Given the description of an element on the screen output the (x, y) to click on. 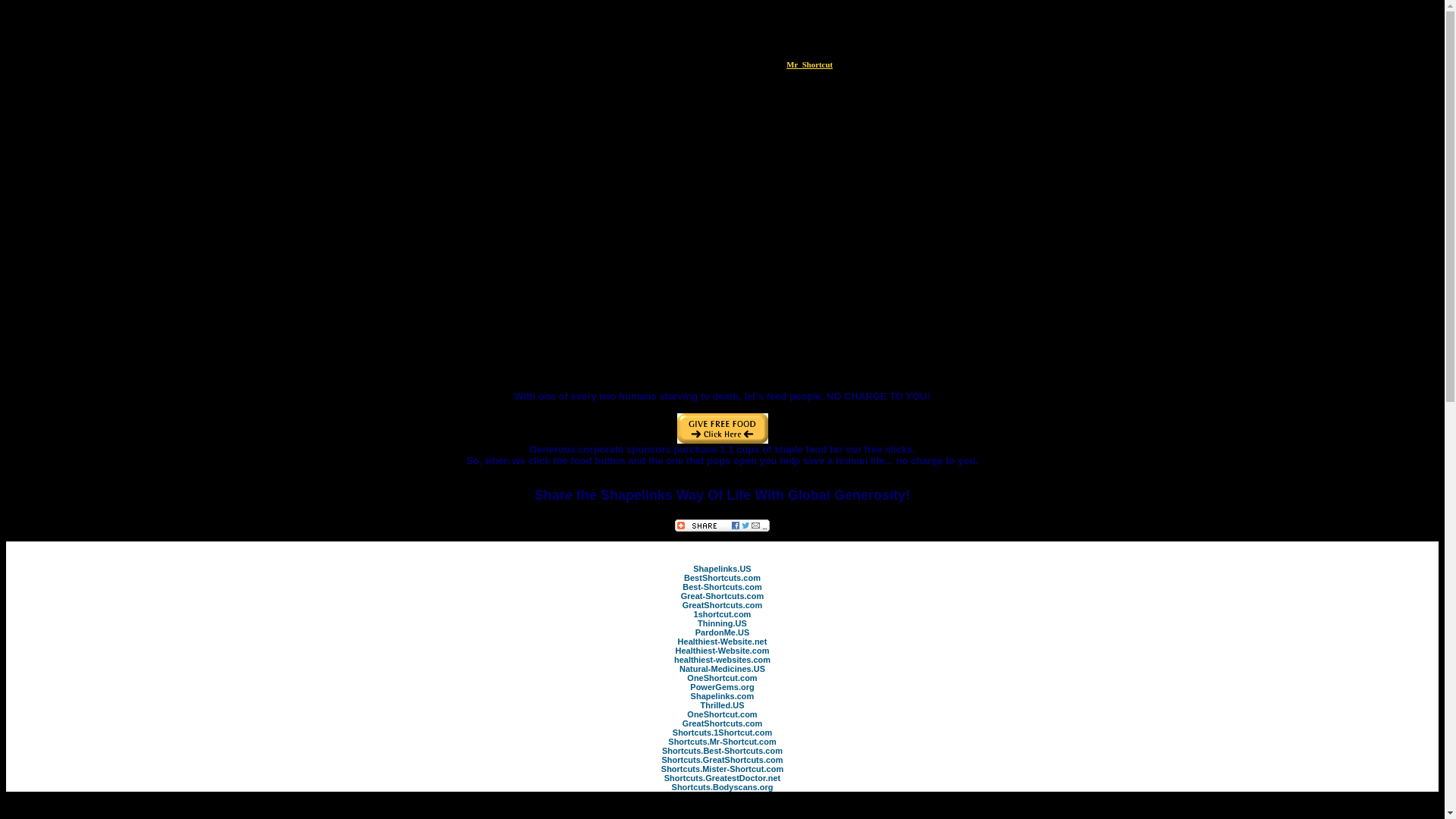
 Psychology of Longevity Always Prefers Natural Medicines (722, 668)
Shortcuts.GreatShortcuts.com (722, 759)
Just 1 Shortcut To Fire Up YOUR Shapelinks Way Of Life (721, 732)
Best Shortcuts To Success - Shapelinks Way Of Life (721, 586)
BestShortcuts Means The Best Of All Shortcuts (722, 577)
One-Shortcut.US (722, 677)
healthiest-websites.com (722, 659)
1shortcut.com (722, 614)
Great-Shortcuts.com (721, 595)
Shapelinks Capital For The Shapelinks Way Of Life (722, 696)
Thinning.US (721, 623)
Huge Psychology of Longevity Website - Be Your Healthiest (722, 641)
